Given the description of an element on the screen output the (x, y) to click on. 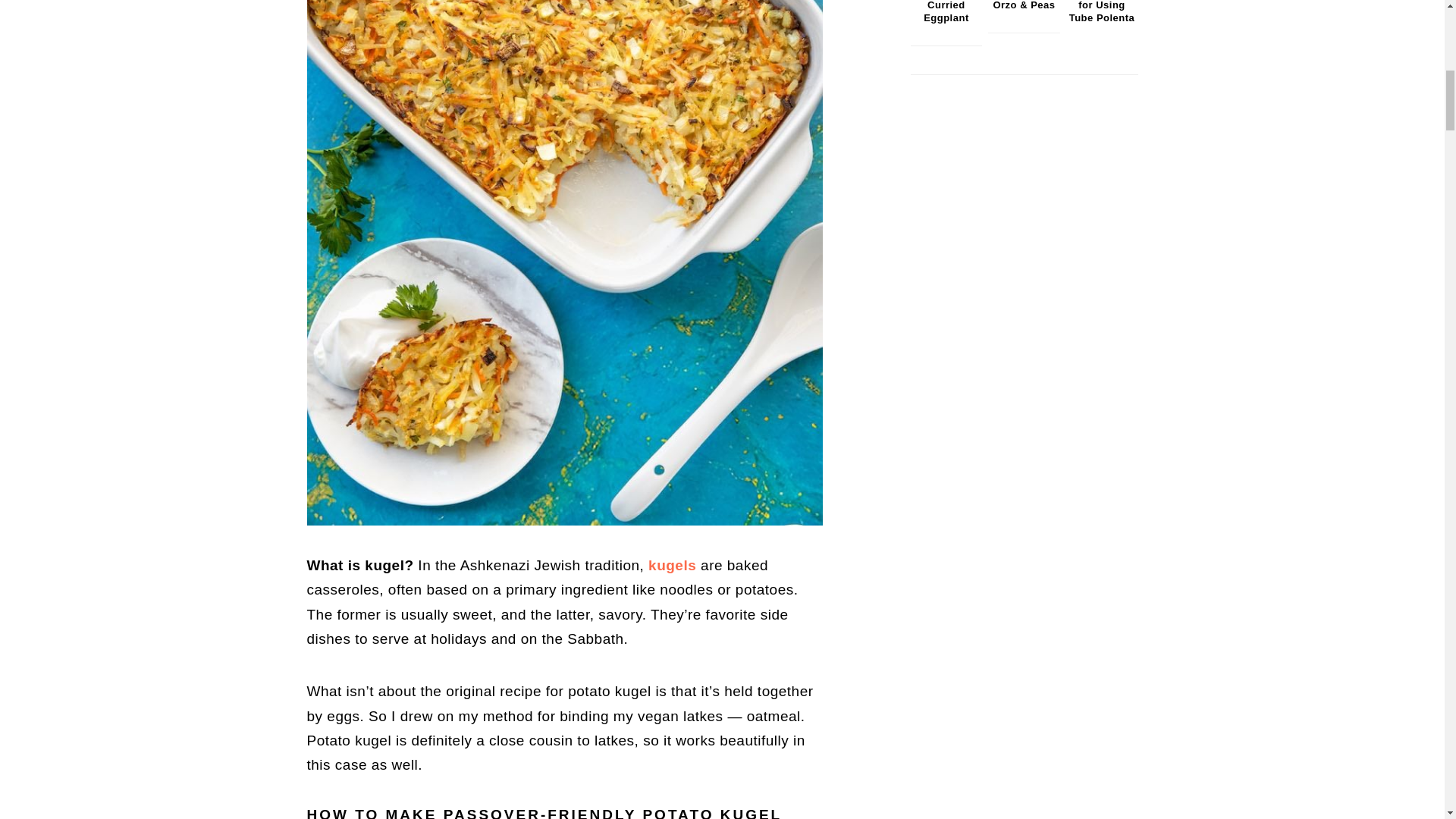
kugels (671, 565)
